Given the description of an element on the screen output the (x, y) to click on. 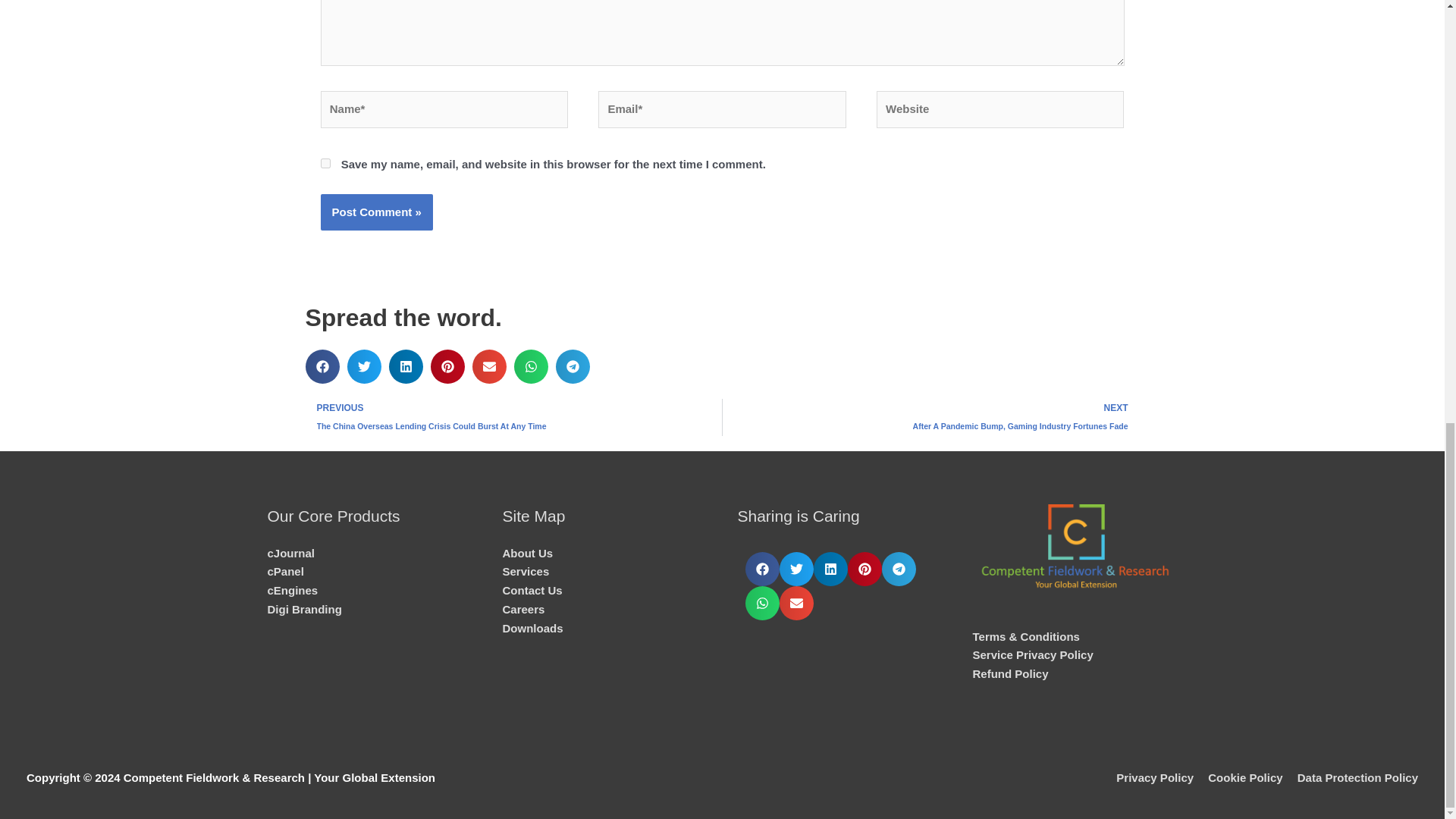
yes (325, 163)
About Us (527, 553)
Downloads (532, 627)
cEngines (291, 590)
Contact Us (532, 590)
Services (525, 571)
Service Privacy Policy (1032, 654)
Careers (523, 608)
